Given the description of an element on the screen output the (x, y) to click on. 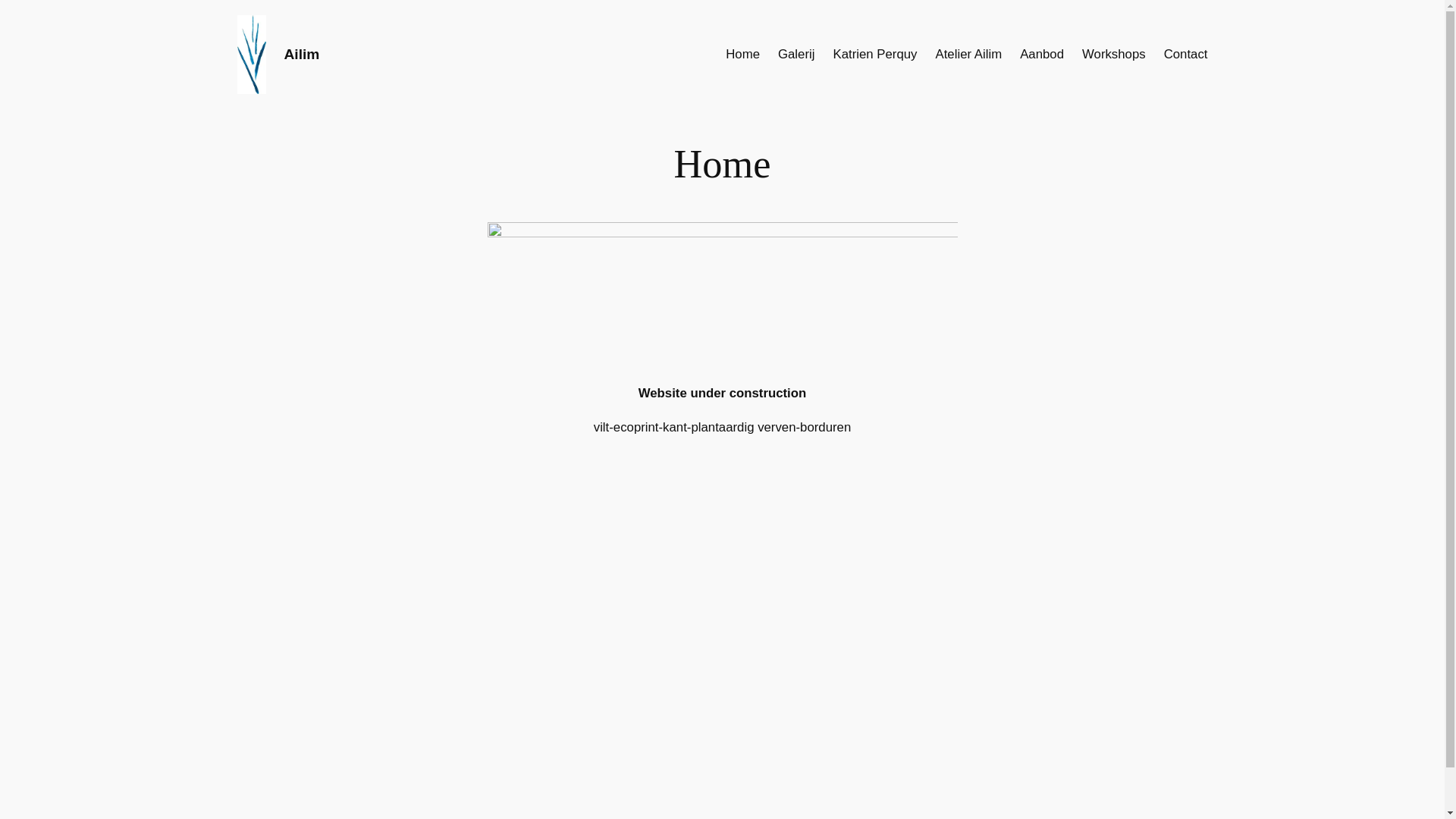
Katrien Perquy Element type: text (874, 54)
Galerij Element type: text (796, 54)
Ailim Element type: text (301, 54)
Atelier Ailim Element type: text (968, 54)
Contact Element type: text (1186, 54)
Workshops Element type: text (1113, 54)
Aanbod Element type: text (1041, 54)
Home Element type: text (742, 54)
Ailim: Katrien Perquy Element type: hover (721, 583)
